Given the description of an element on the screen output the (x, y) to click on. 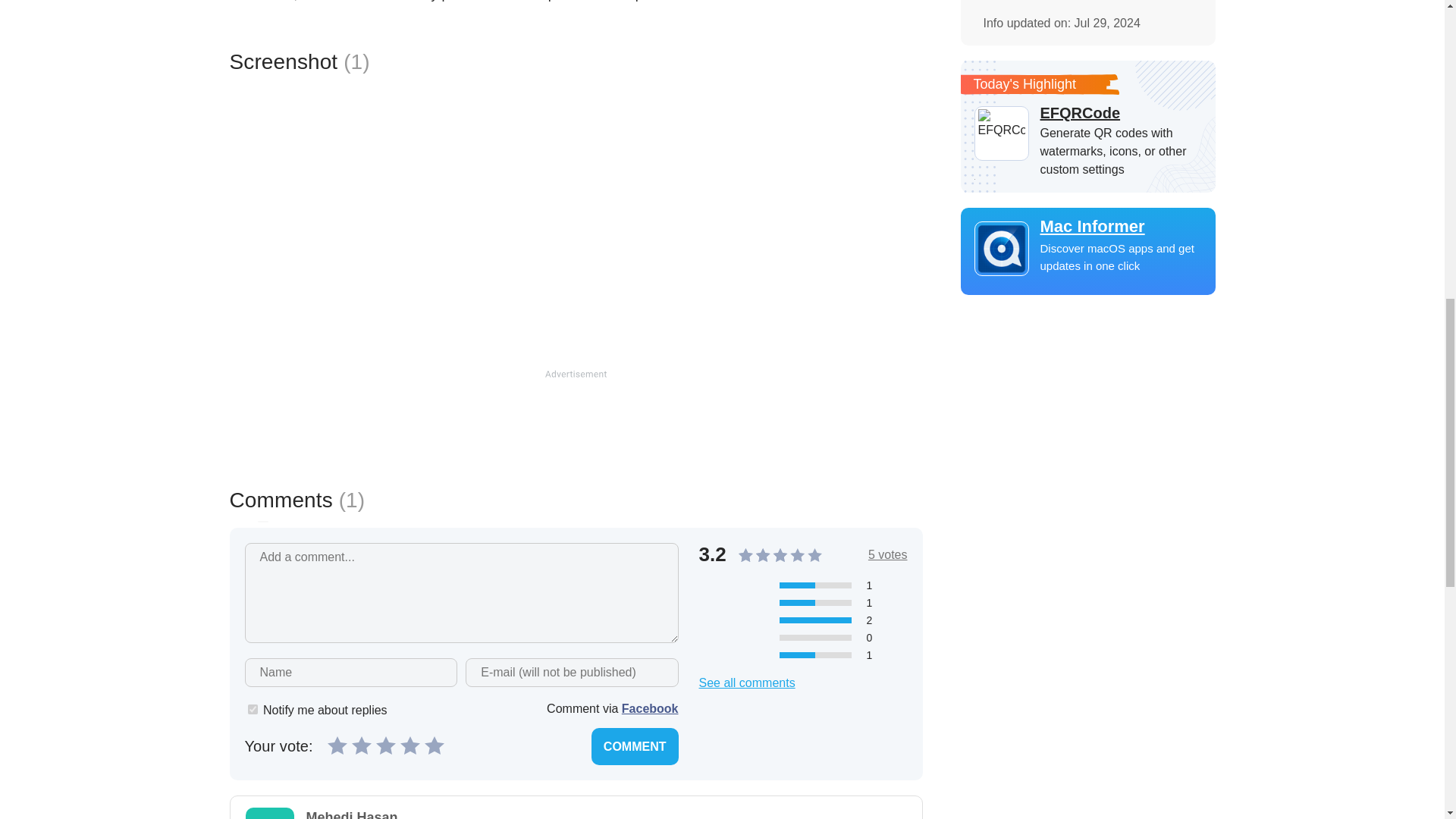
3 (385, 744)
Mac Informer (1087, 226)
Comment (634, 746)
4 (409, 744)
5 (434, 744)
1 (252, 709)
2 (361, 744)
EFQRCode (1087, 112)
1 (336, 744)
